Given the description of an element on the screen output the (x, y) to click on. 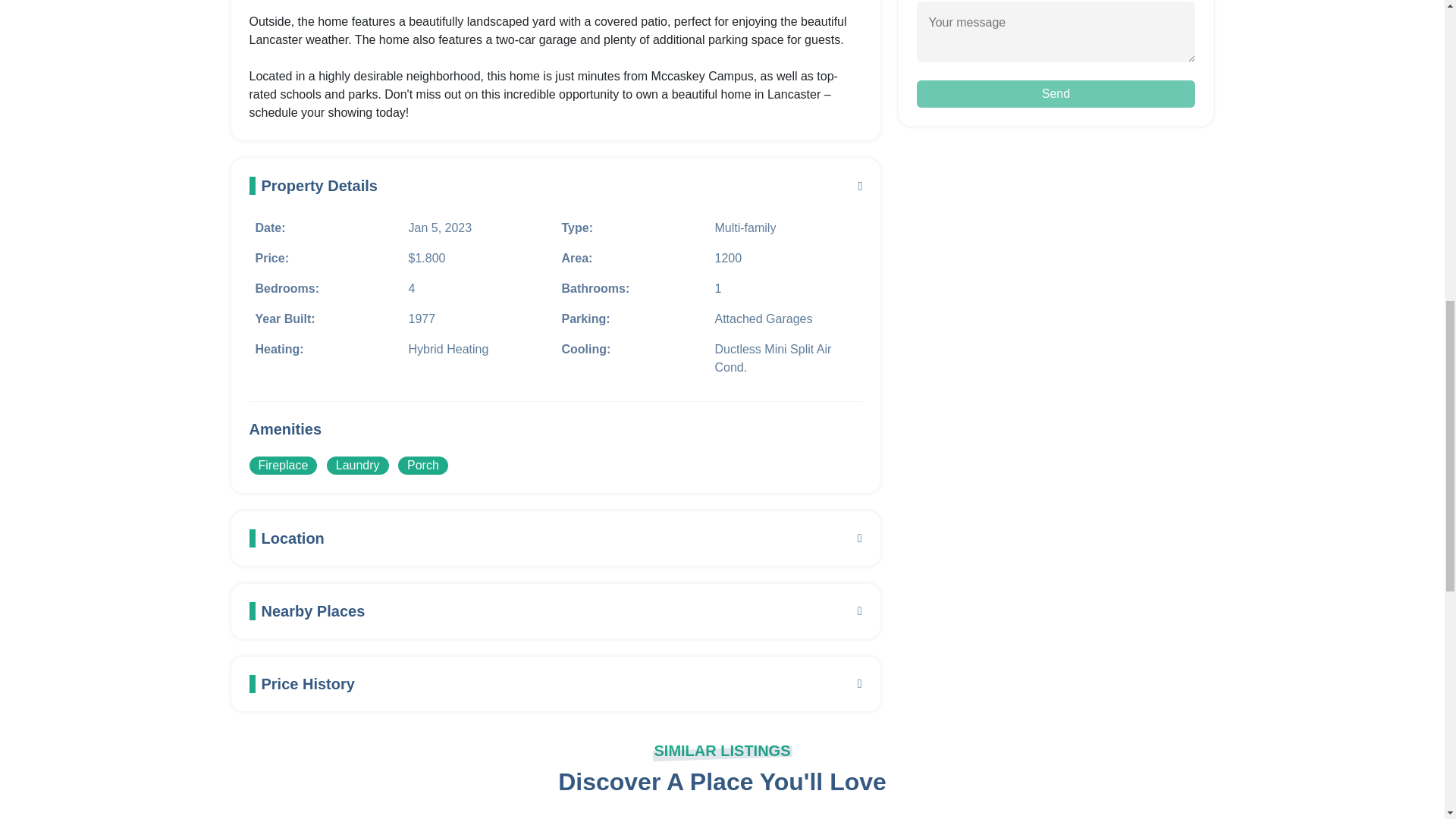
Nearby Places (554, 610)
Location (554, 538)
Property Details (554, 185)
